Given the description of an element on the screen output the (x, y) to click on. 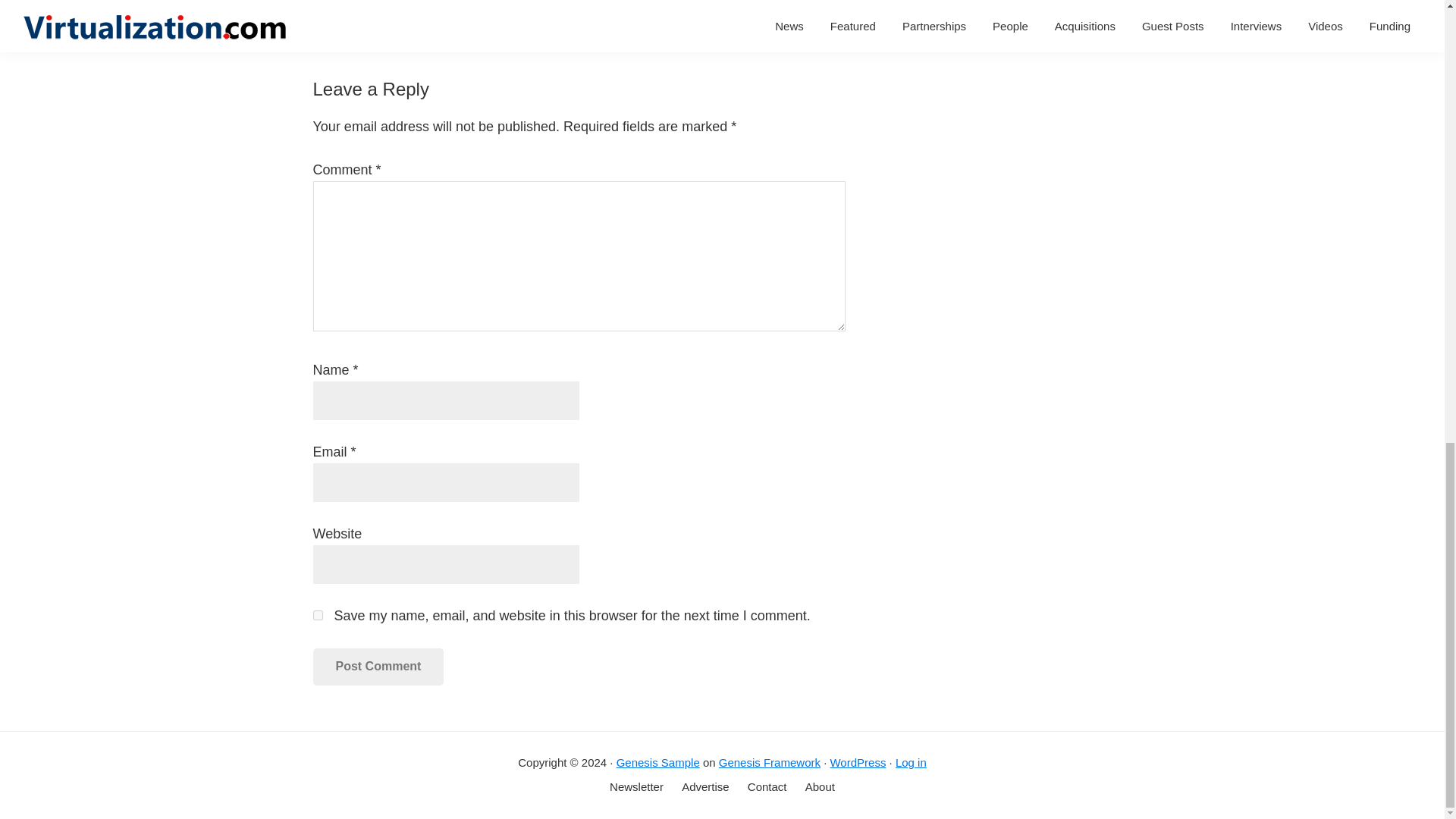
microsoft (411, 4)
Wyse (686, 22)
Windows XP Embedded (599, 22)
Windows Embedded Standard OS 2009 (420, 22)
Windows Embedded Standard 2009 (741, 4)
Wyse Technology (756, 22)
yes (317, 614)
windows (614, 4)
Post Comment (378, 666)
Post Comment (378, 666)
virtualization (550, 4)
virtualisation (476, 4)
